Given the description of an element on the screen output the (x, y) to click on. 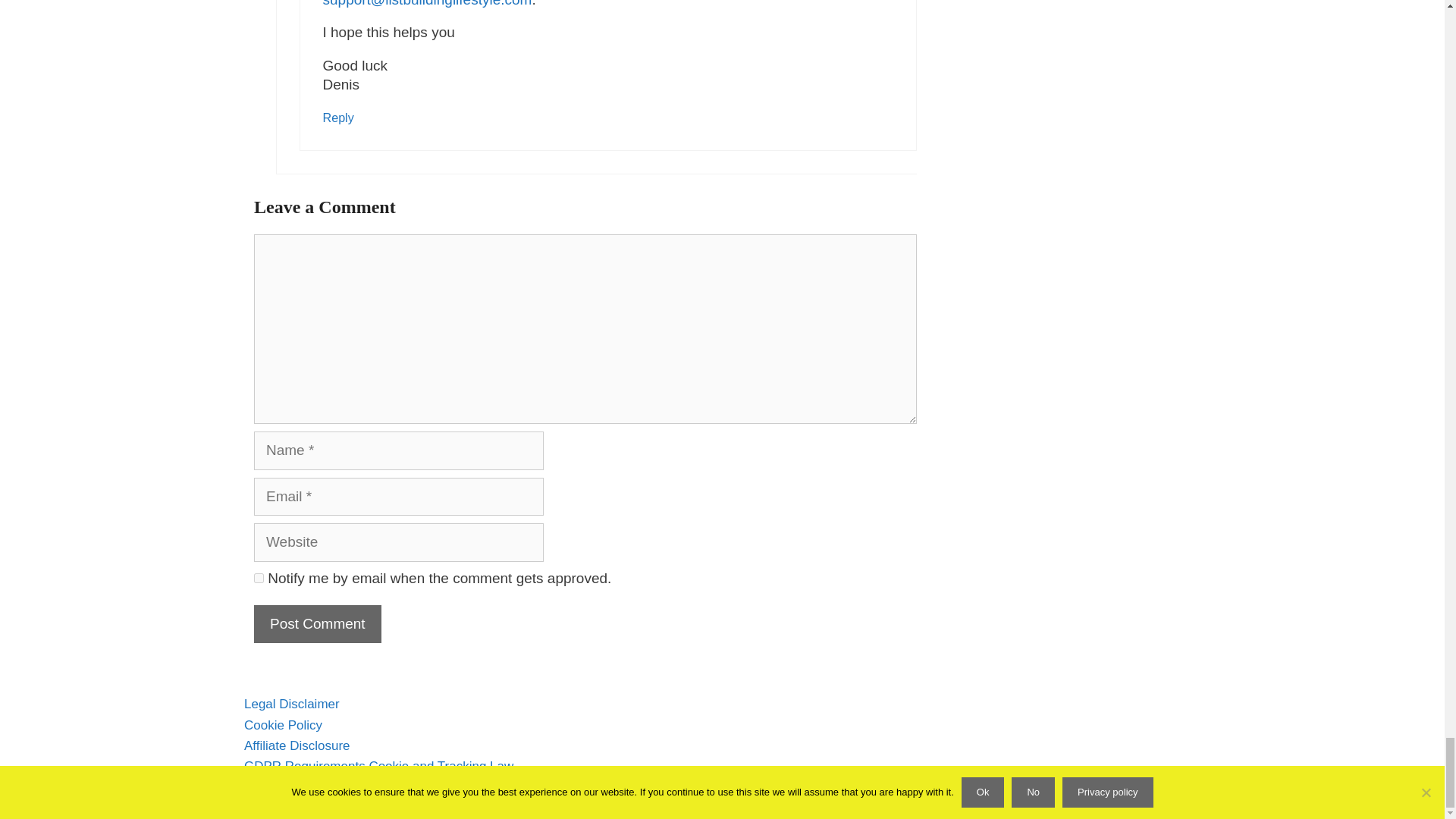
Post Comment (317, 624)
1 (258, 578)
